Given the description of an element on the screen output the (x, y) to click on. 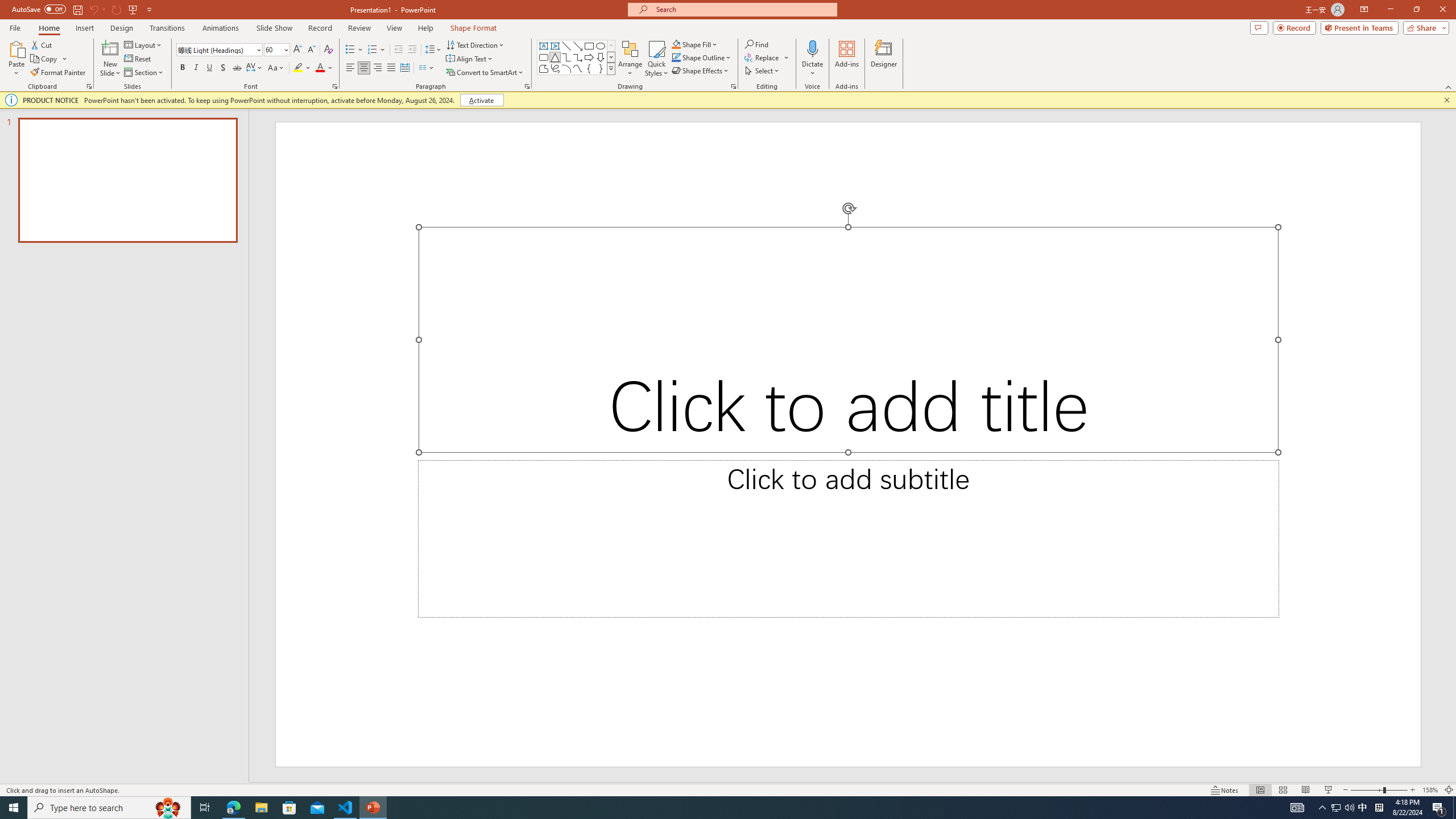
Zoom 158% (1430, 790)
